Given the description of an element on the screen output the (x, y) to click on. 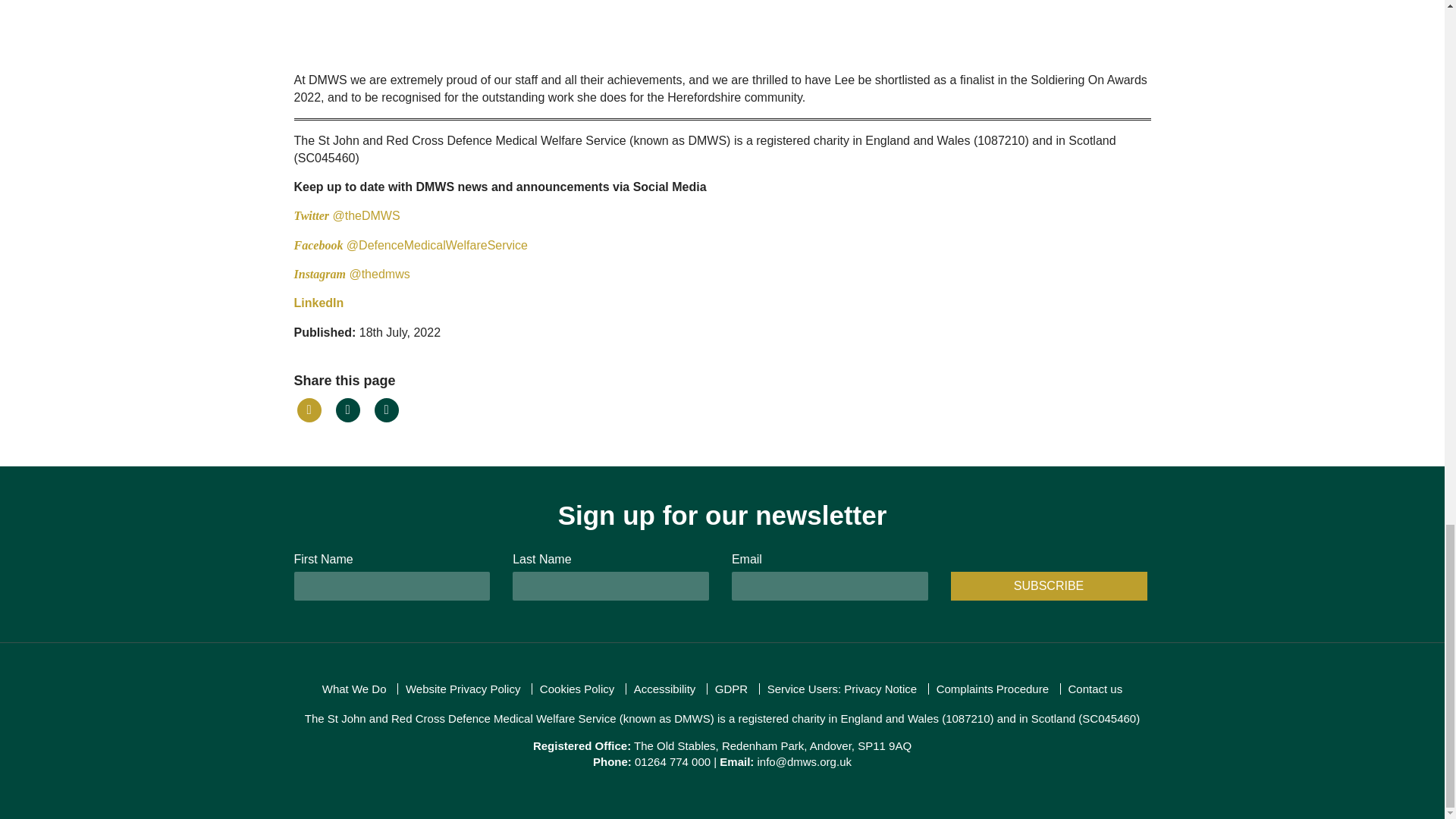
Facebook (318, 245)
LinkedIn (318, 302)
Twitter  (313, 215)
Subscribe (1048, 585)
Instagram (320, 273)
